Given the description of an element on the screen output the (x, y) to click on. 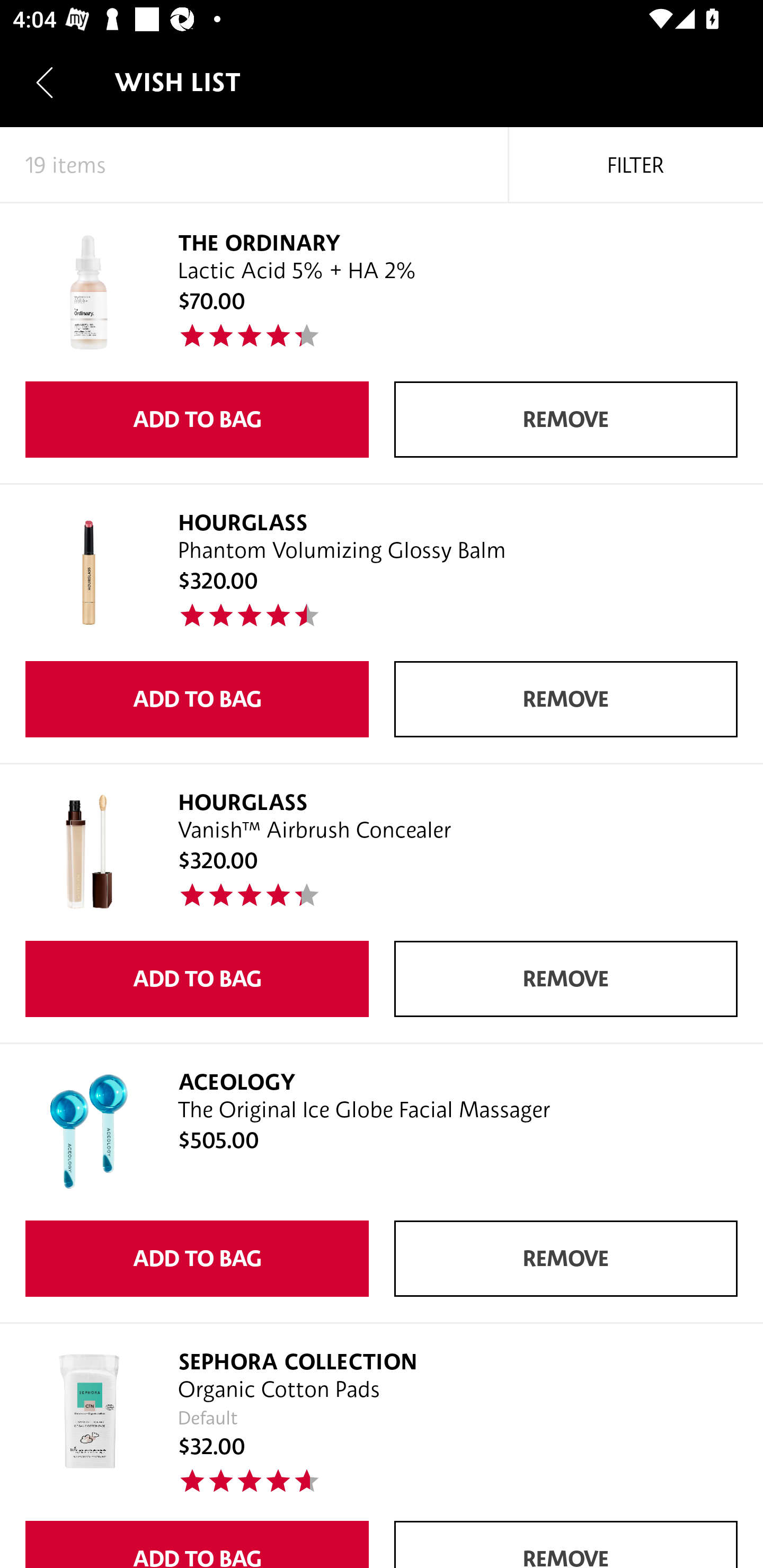
Navigate up (44, 82)
FILTER (635, 165)
ADD TO BAG (196, 419)
REMOVE (565, 419)
ADD TO BAG (196, 698)
REMOVE (565, 698)
ADD TO BAG (196, 978)
REMOVE (565, 978)
ADD TO BAG (196, 1257)
REMOVE (565, 1257)
